Given the description of an element on the screen output the (x, y) to click on. 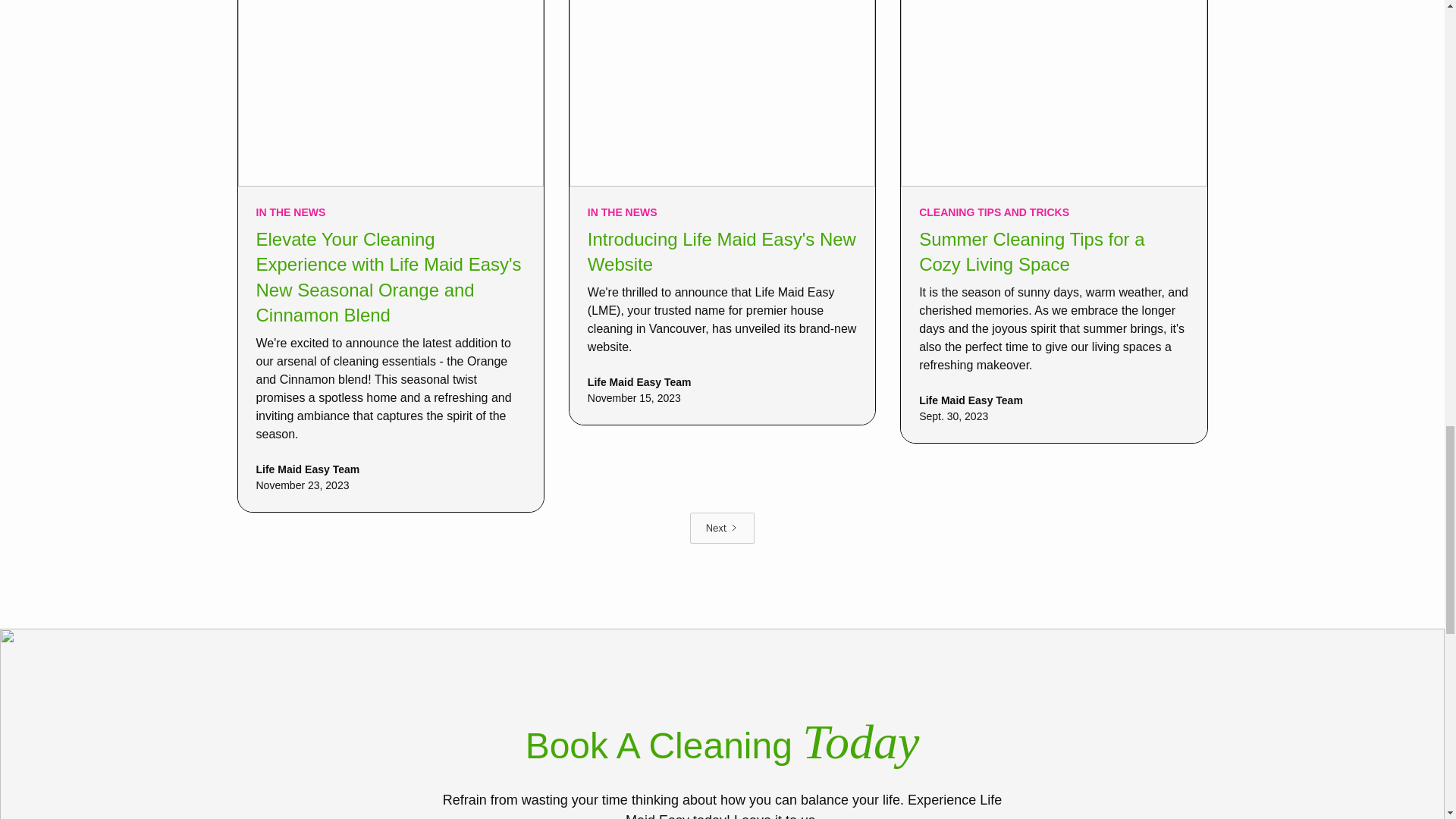
Next (722, 527)
